Given the description of an element on the screen output the (x, y) to click on. 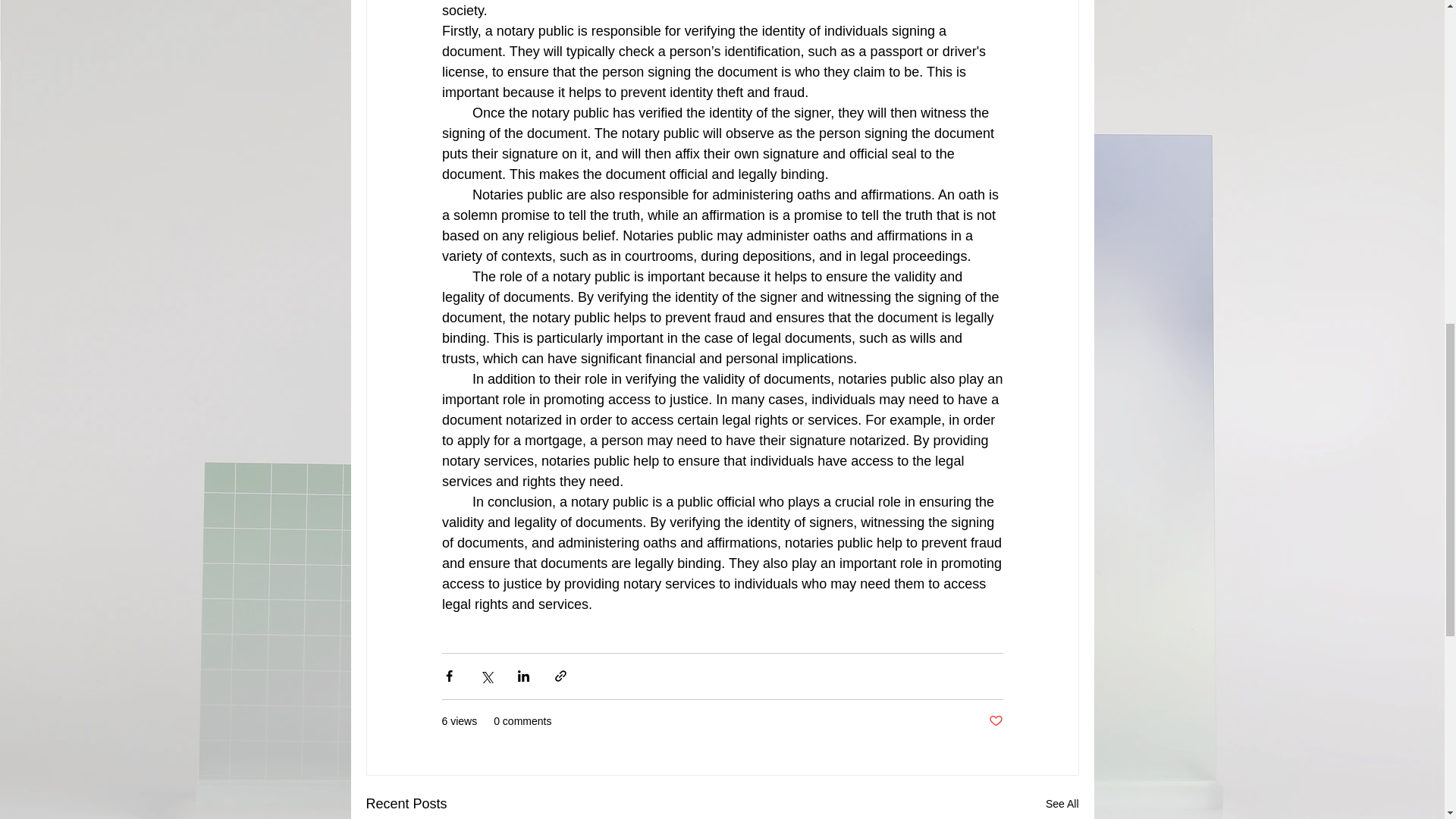
See All (1061, 803)
Post not marked as liked (995, 721)
